Given the description of an element on the screen output the (x, y) to click on. 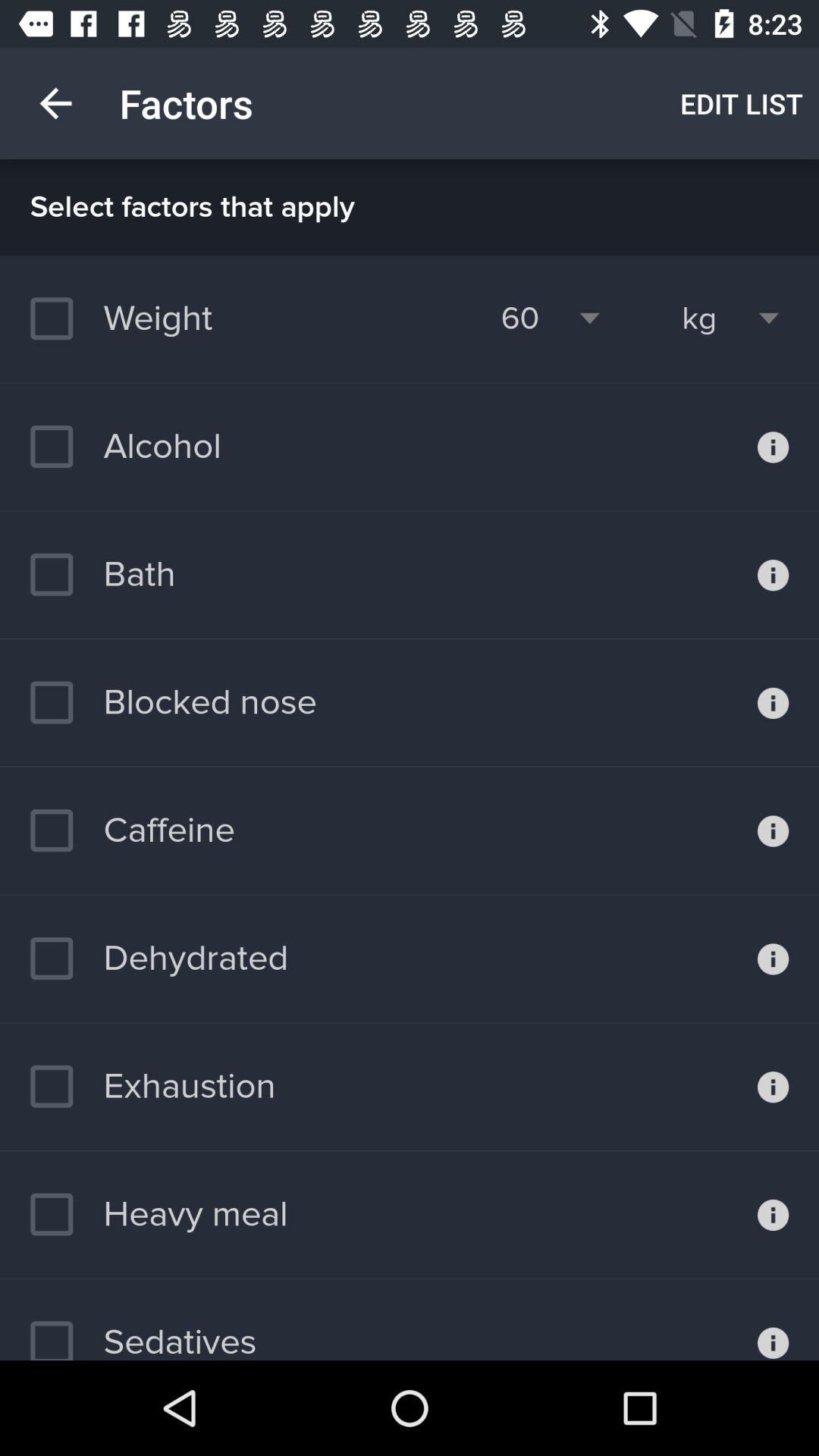
select blocked nose item (173, 702)
